Given the description of an element on the screen output the (x, y) to click on. 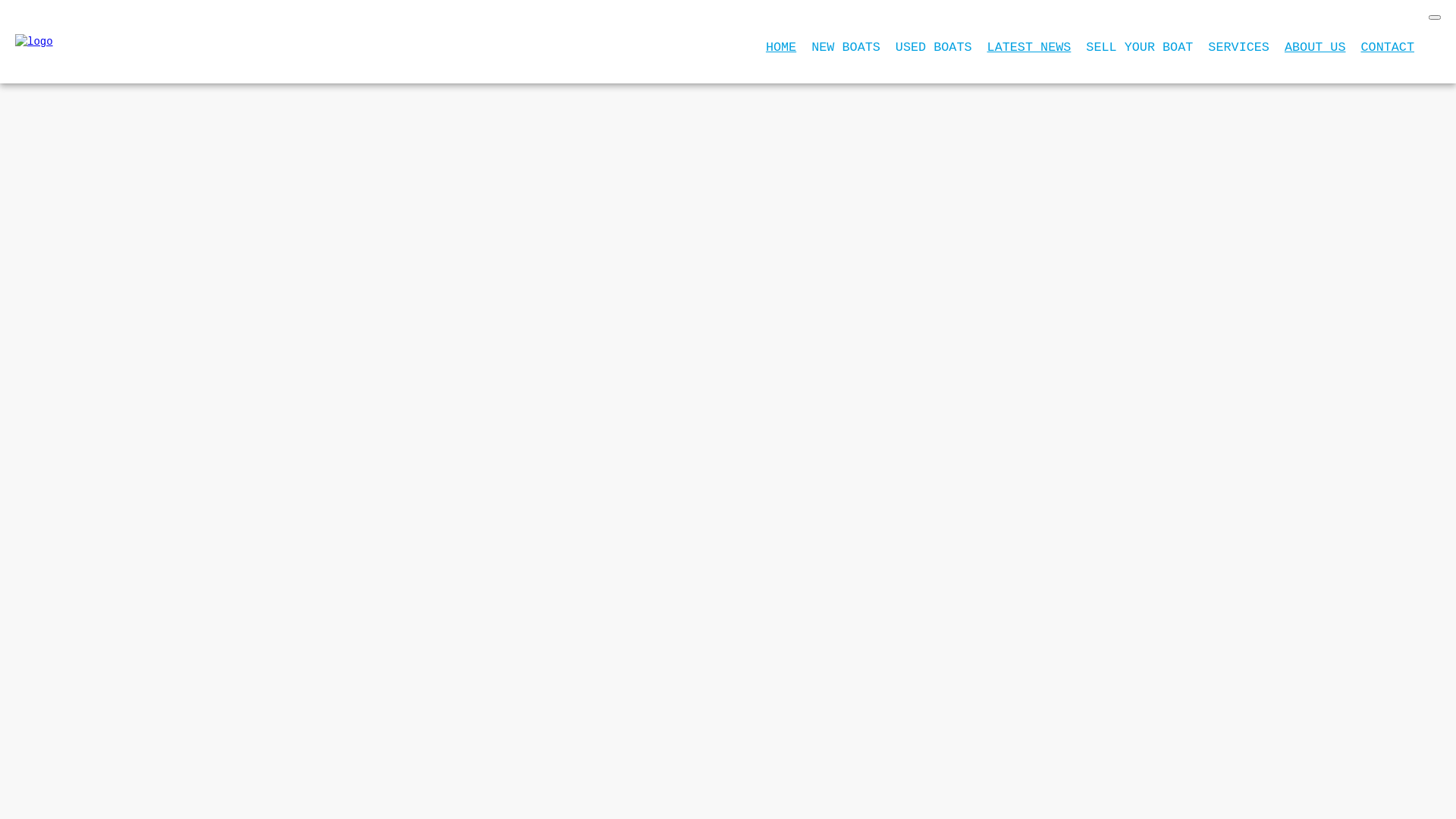
USED BOATS Element type: text (933, 47)
HOME Element type: text (780, 47)
SELL YOUR BOAT Element type: text (1138, 47)
LATEST NEWS Element type: text (1029, 47)
CONTACT Element type: text (1387, 47)
SERVICES Element type: text (1238, 47)
NEW BOATS Element type: text (845, 47)
ABOUT US Element type: text (1315, 47)
